Given the description of an element on the screen output the (x, y) to click on. 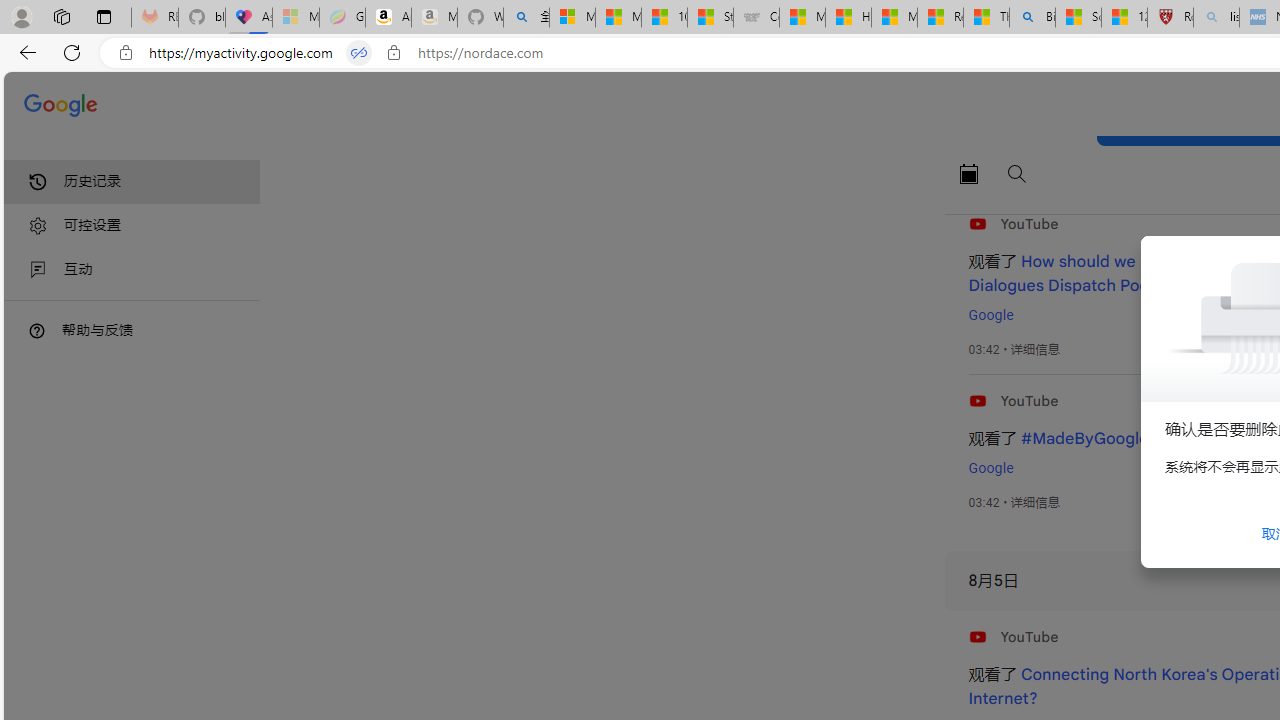
12 Popular Science Lies that Must be Corrected (1124, 17)
Asthma Inhalers: Names and Types (249, 17)
Tabs in split screen (358, 53)
Recipes - MSN (939, 17)
Google (990, 468)
